Given the description of an element on the screen output the (x, y) to click on. 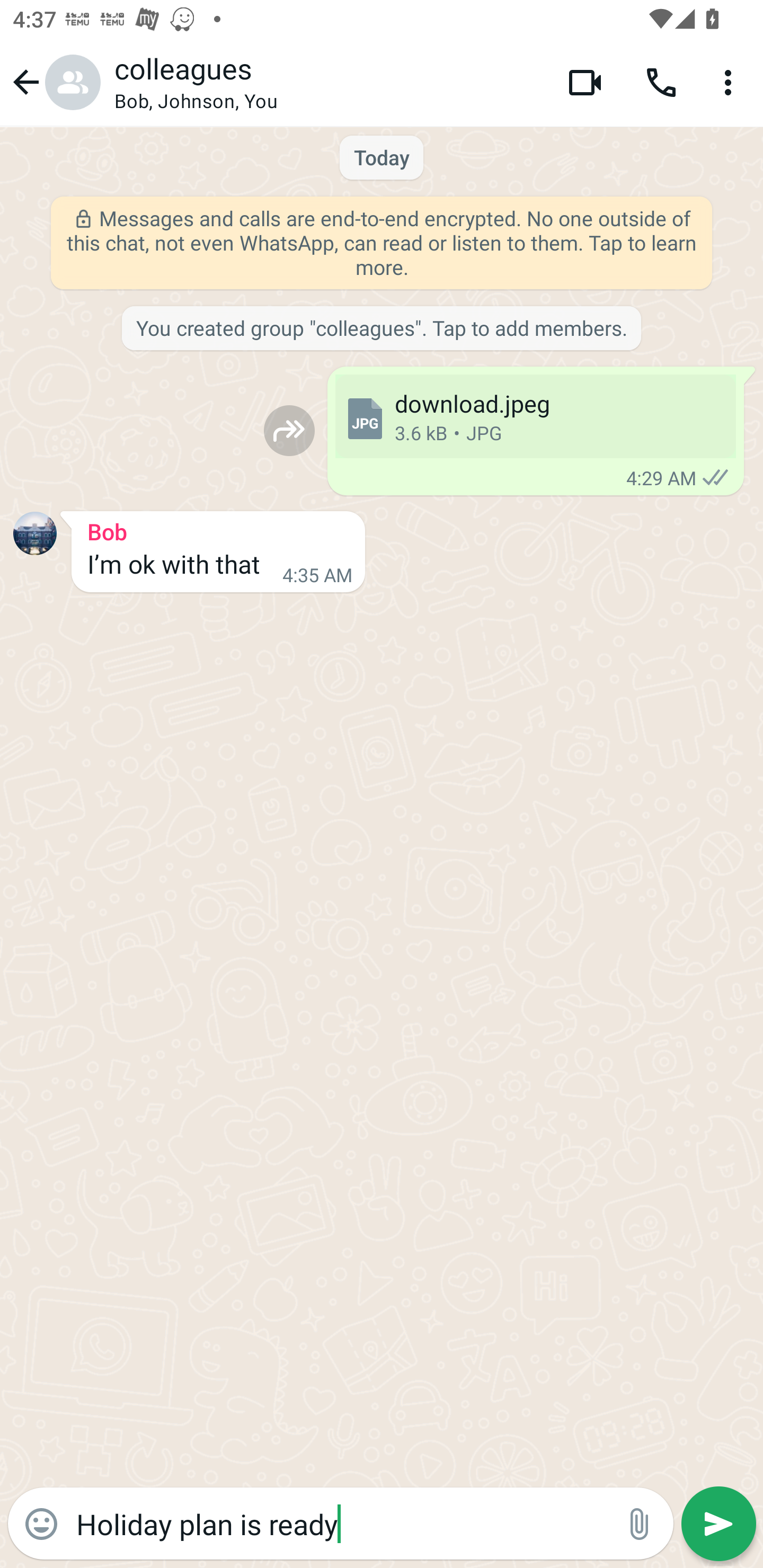
colleagues Bob, Johnson, You (327, 82)
Navigate up (54, 82)
Video call (585, 81)
Voice call (661, 81)
More options (731, 81)
download.jpeg 3.6 kB • JPG (535, 415)
Forward to… (288, 430)
Profile picture for Bob (34, 533)
Bob (217, 529)
Emoji (41, 1523)
Attach (640, 1523)
Send (718, 1523)
Holiday plan is ready (340, 1523)
